Given the description of an element on the screen output the (x, y) to click on. 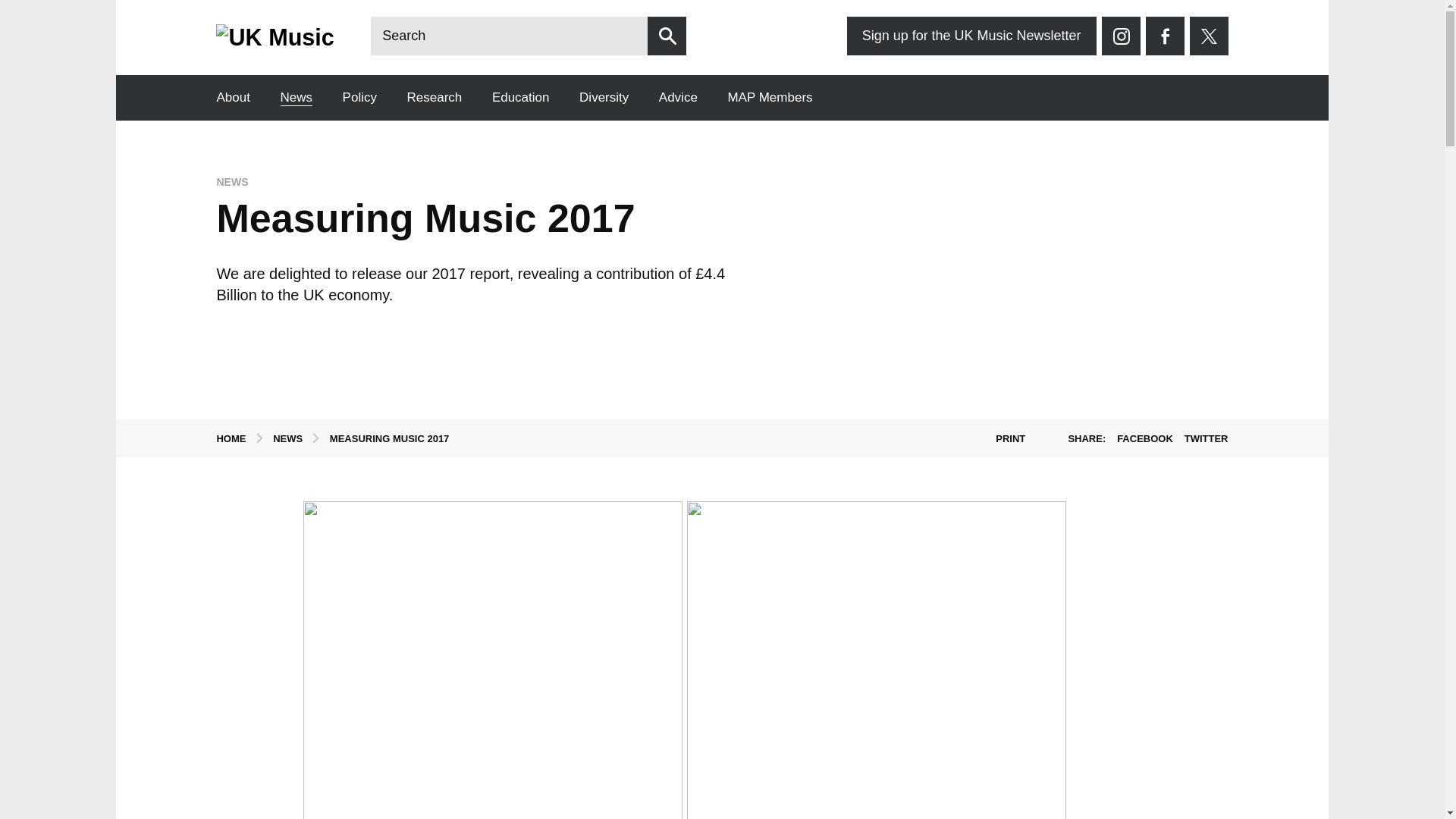
About (231, 98)
Policy (359, 98)
Search (666, 35)
Sign up for the UK Music Newsletter (971, 35)
News (297, 98)
Research (435, 98)
